Given the description of an element on the screen output the (x, y) to click on. 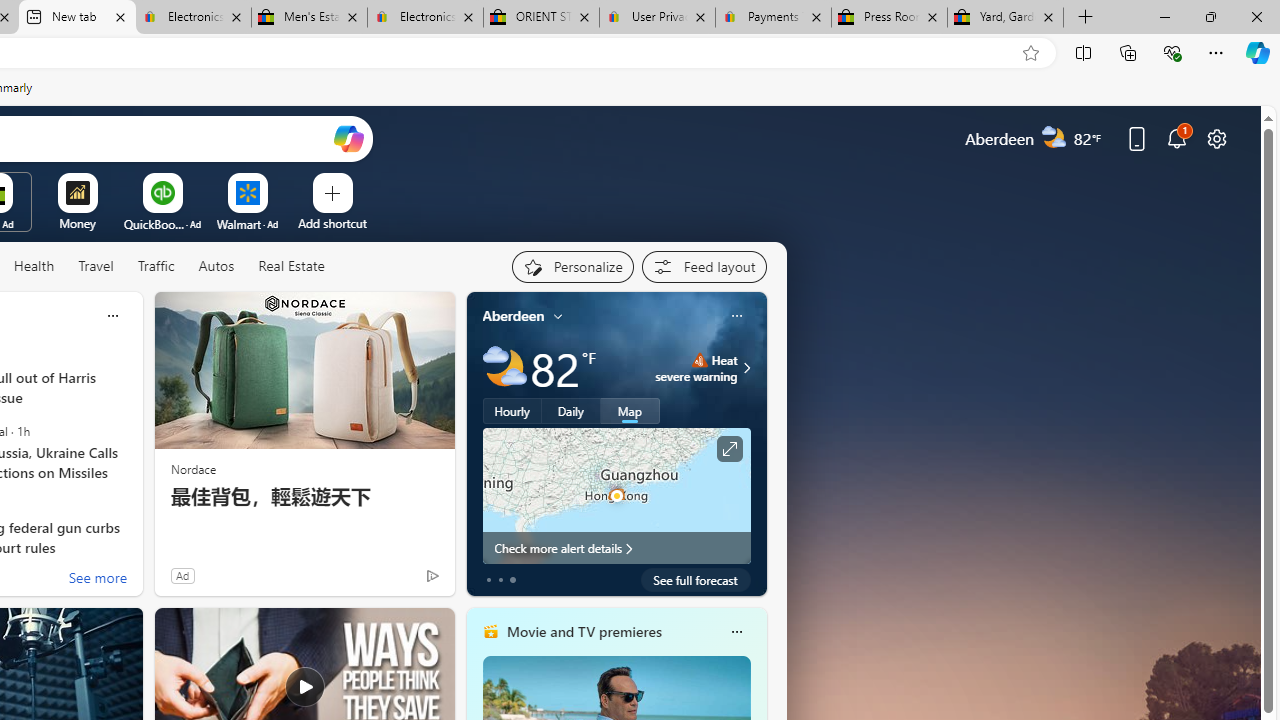
Partly cloudy (504, 368)
Map (630, 411)
Click to see more information (728, 449)
